Given the description of an element on the screen output the (x, y) to click on. 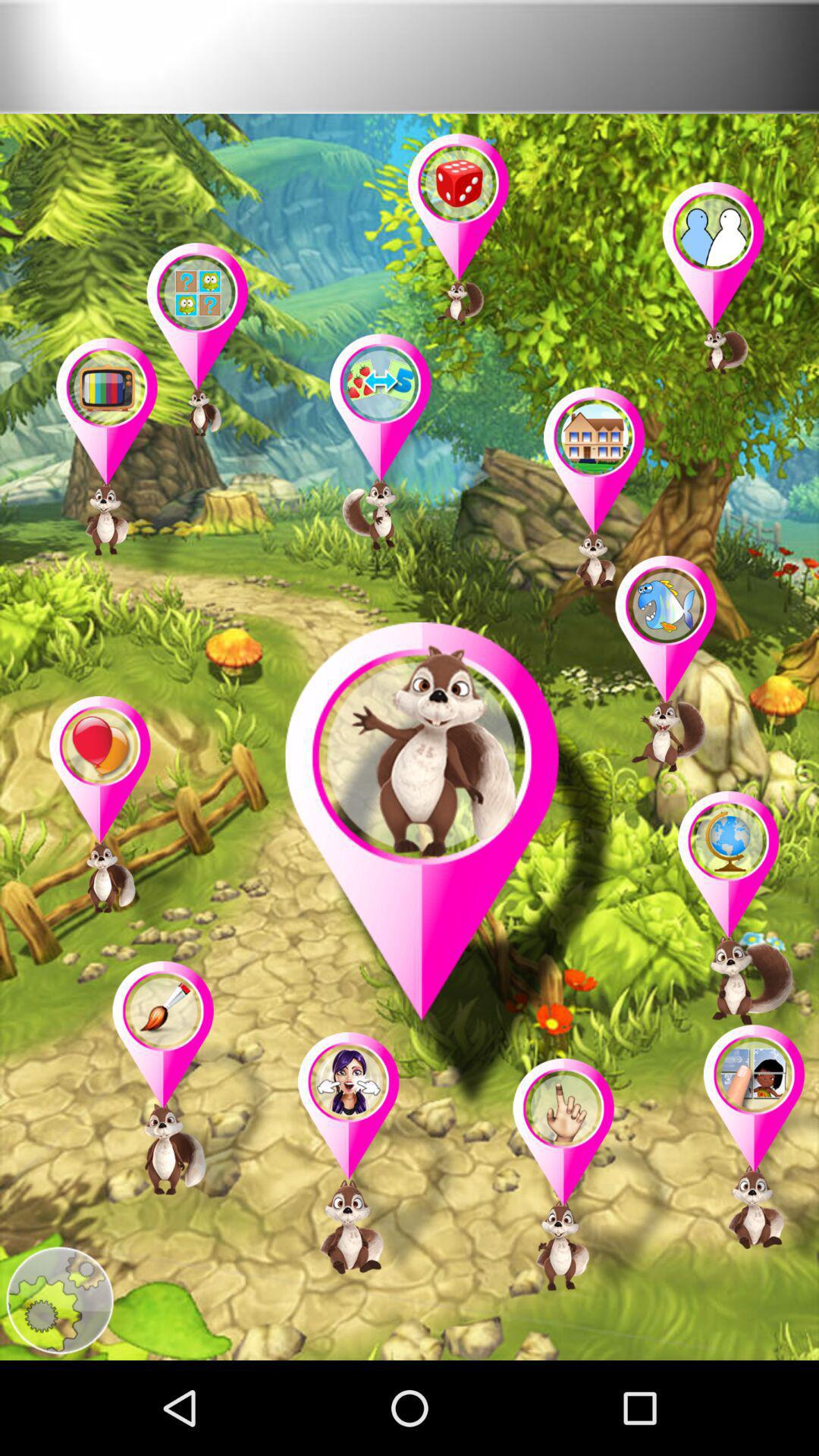
interact with james (451, 870)
